Given the description of an element on the screen output the (x, y) to click on. 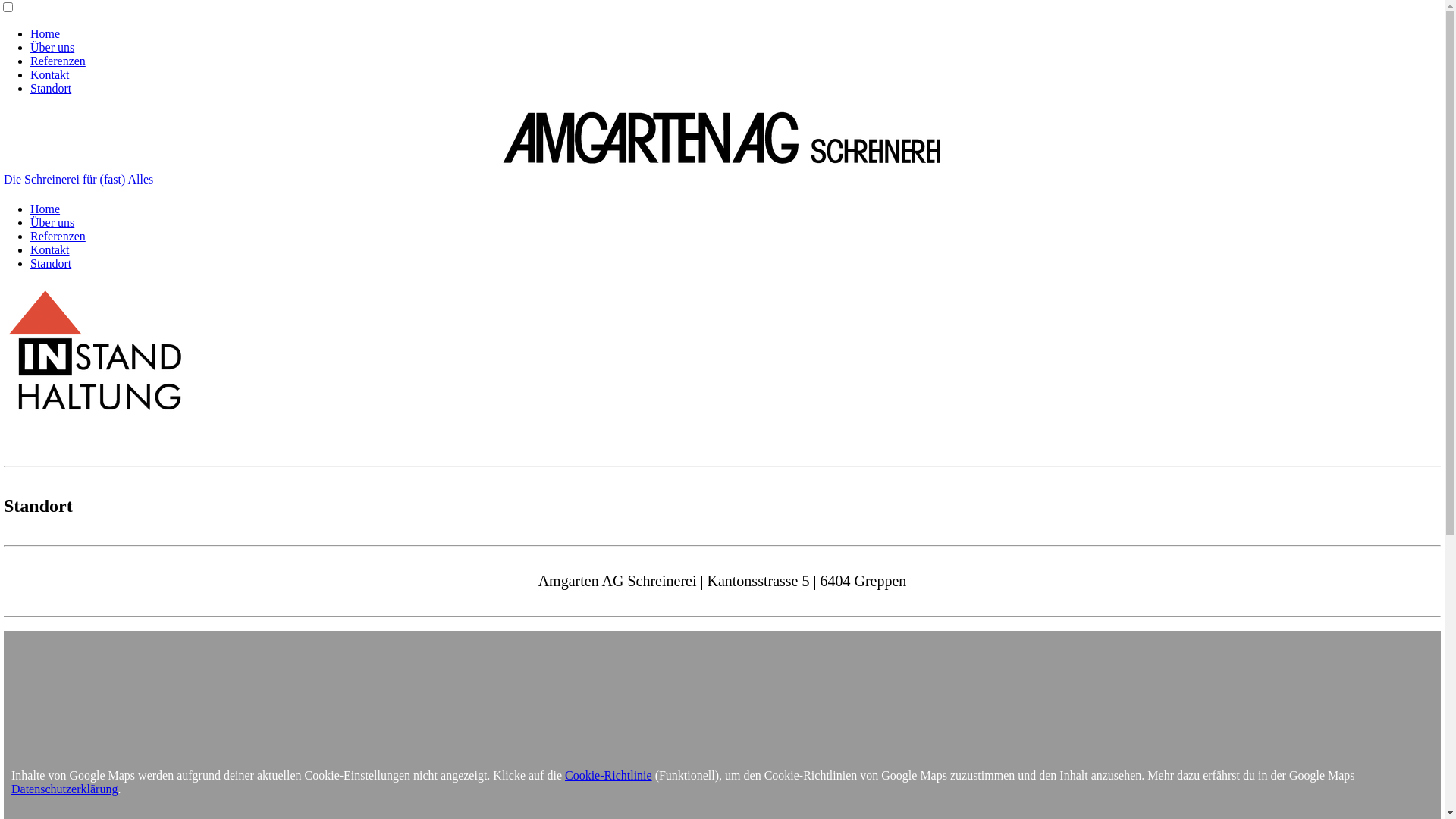
Standort Element type: text (50, 263)
Home Element type: text (44, 208)
Kontakt Element type: text (49, 249)
Referenzen Element type: text (57, 60)
Referenzen Element type: text (57, 235)
Home Element type: text (44, 33)
Cookie-Richtlinie Element type: text (608, 774)
Kontakt Element type: text (49, 74)
Standort Element type: text (50, 87)
